Given the description of an element on the screen output the (x, y) to click on. 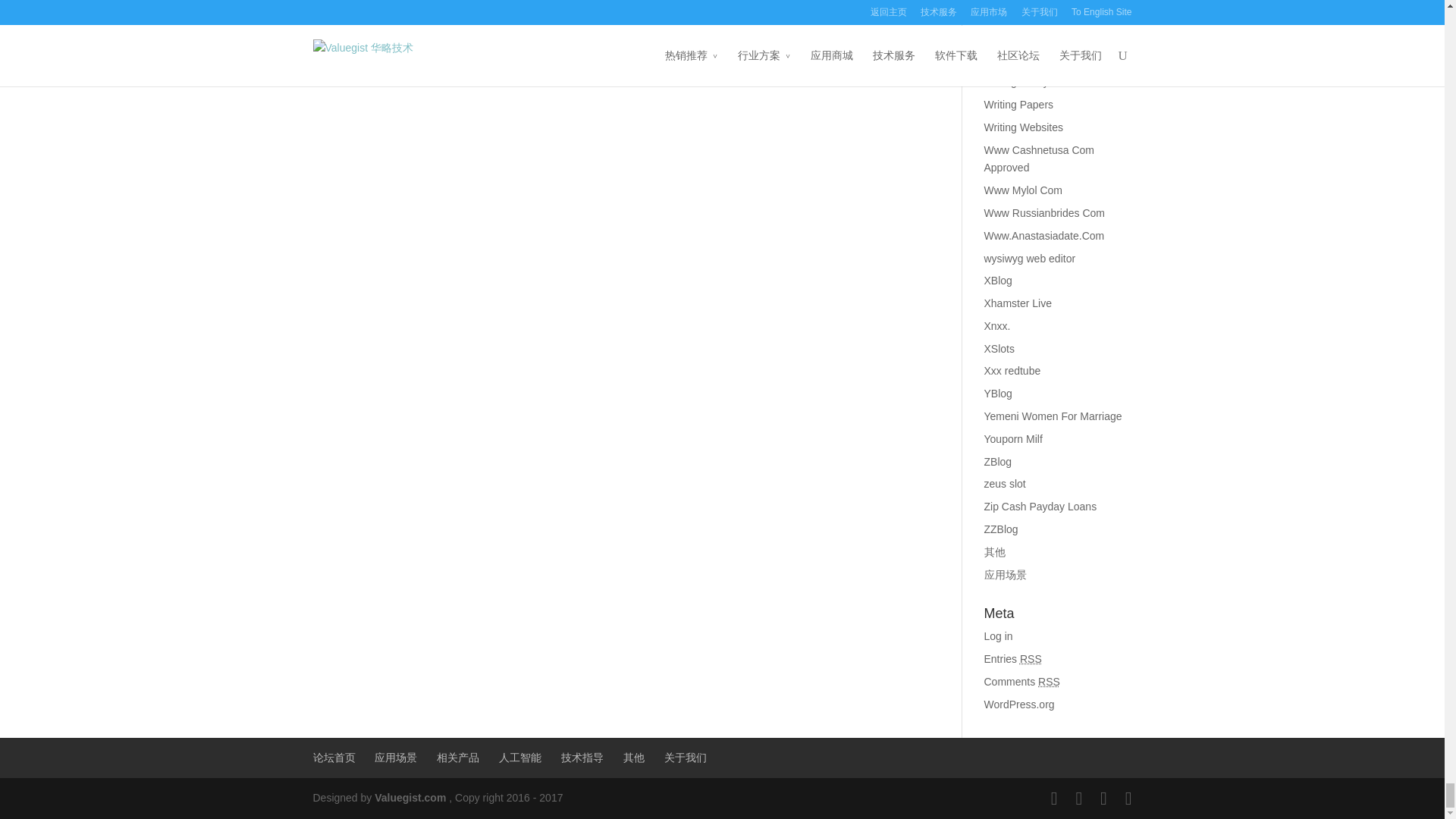
Really Simple Syndication (1048, 681)
Really Simple Syndication (1031, 658)
